Given the description of an element on the screen output the (x, y) to click on. 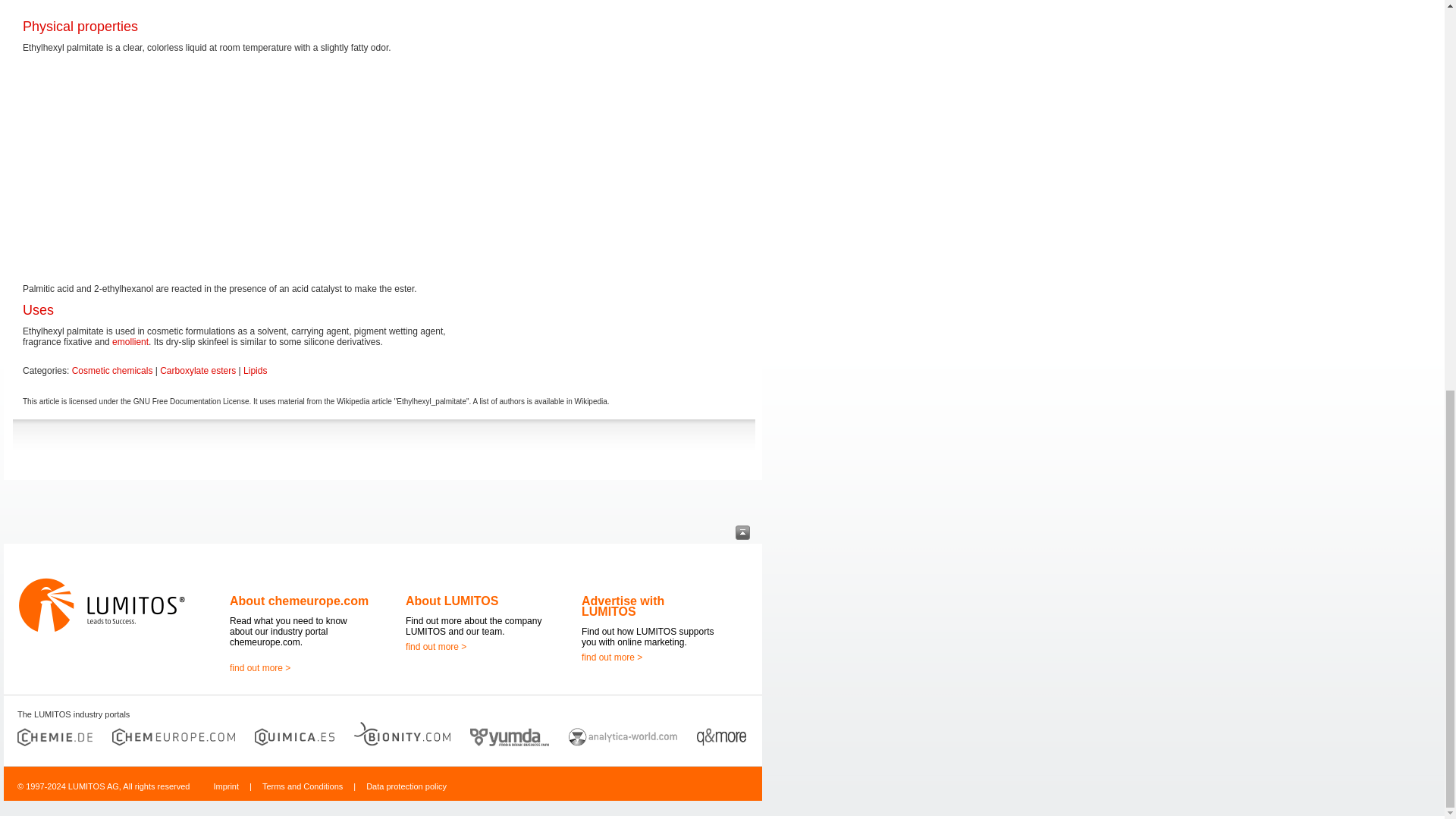
emollient (130, 341)
Emollient (130, 341)
Carboxylate esters (197, 370)
Lipids (254, 370)
Cosmetic chemicals (111, 370)
